Given the description of an element on the screen output the (x, y) to click on. 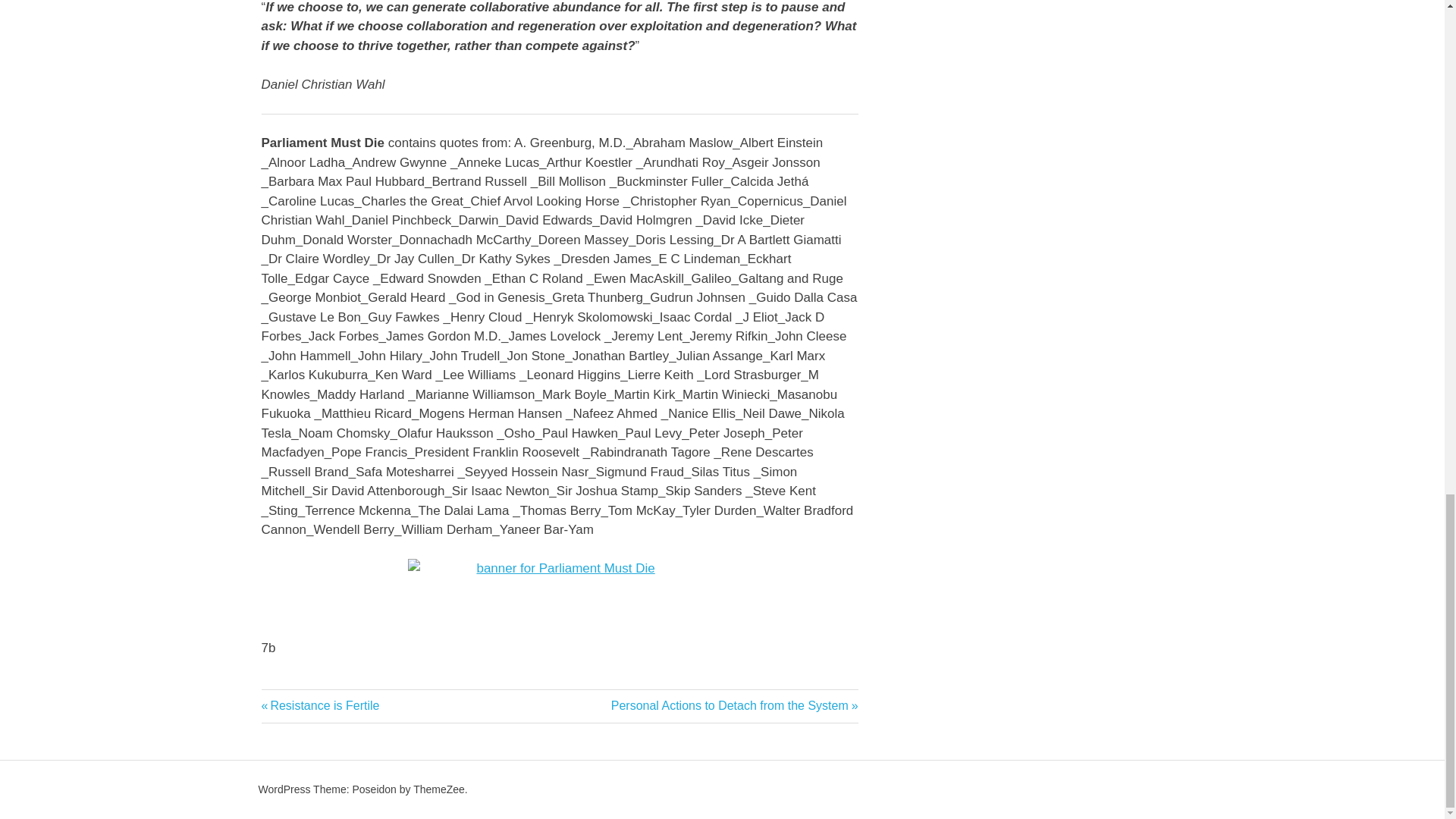
actions (735, 705)
